Given the description of an element on the screen output the (x, y) to click on. 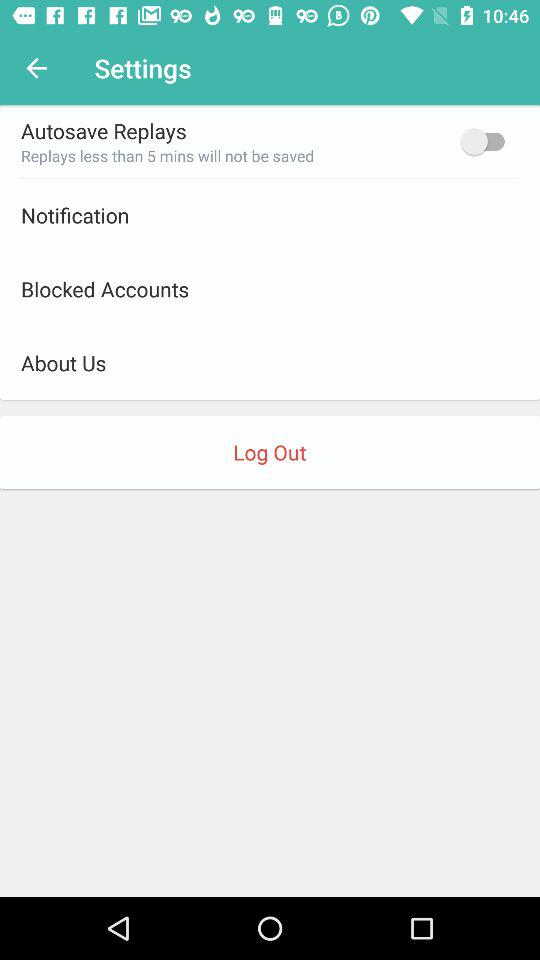
toggle autosave (487, 141)
